Given the description of an element on the screen output the (x, y) to click on. 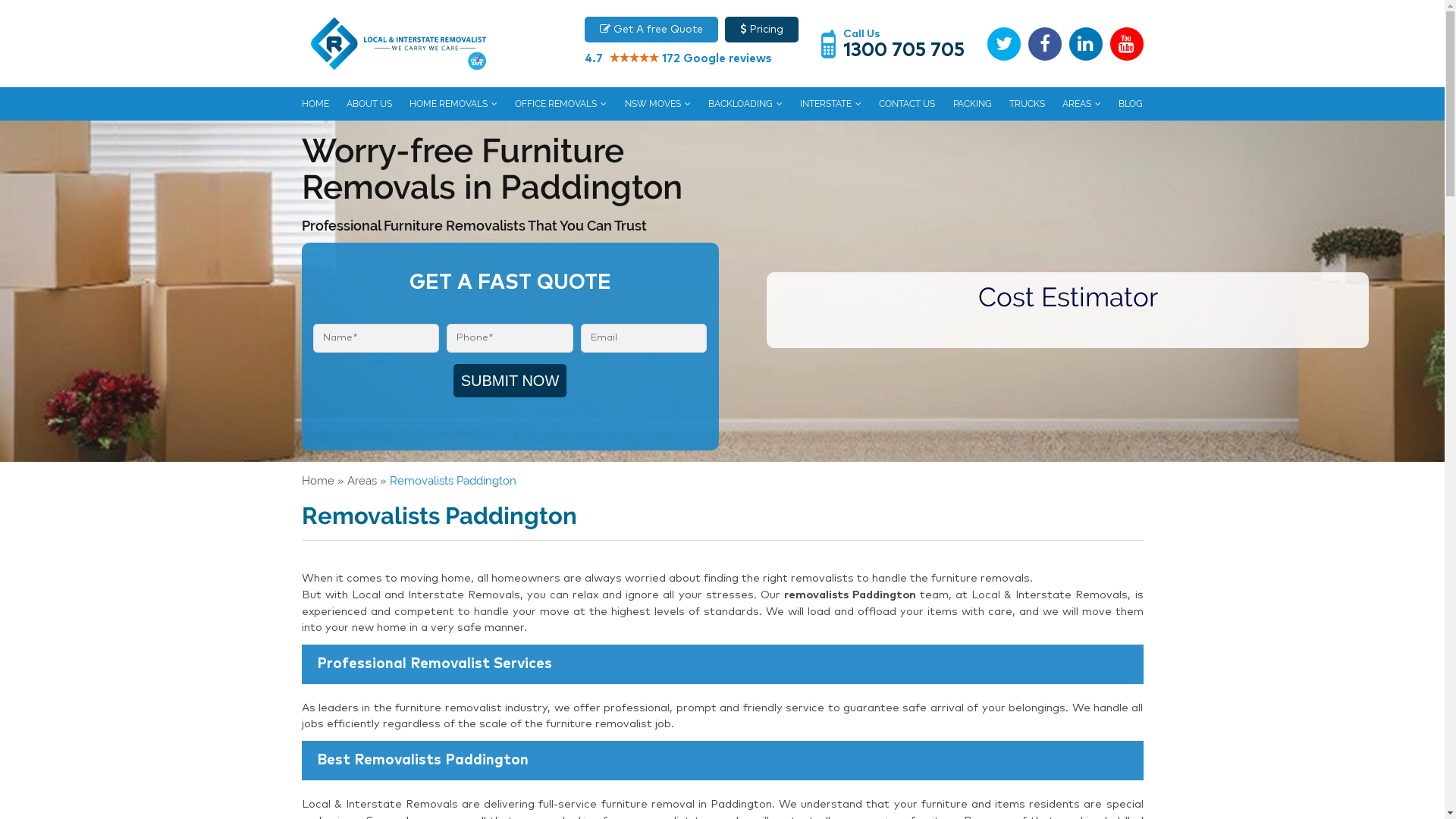
Areas Element type: text (361, 480)
ABOUT US Element type: text (369, 103)
Pricing Element type: text (761, 29)
INTERSTATE Element type: text (830, 103)
OFFICE REMOVALS Element type: text (560, 103)
TRUCKS Element type: text (1026, 103)
AREAS Element type: text (1081, 103)
BLOG Element type: text (1130, 103)
NSW MOVES Element type: text (657, 103)
SUBMIT NOW Element type: text (510, 380)
4.7 172 Google reviews Element type: text (690, 53)
BACKLOADING Element type: text (745, 103)
Home Element type: text (317, 480)
CONTACT US Element type: text (906, 103)
1300 705 705 Element type: text (903, 49)
Get A free Quote Element type: text (650, 29)
HOME Element type: text (315, 103)
HOME REMOVALS Element type: text (453, 103)
PACKING Element type: text (972, 103)
